Given the description of an element on the screen output the (x, y) to click on. 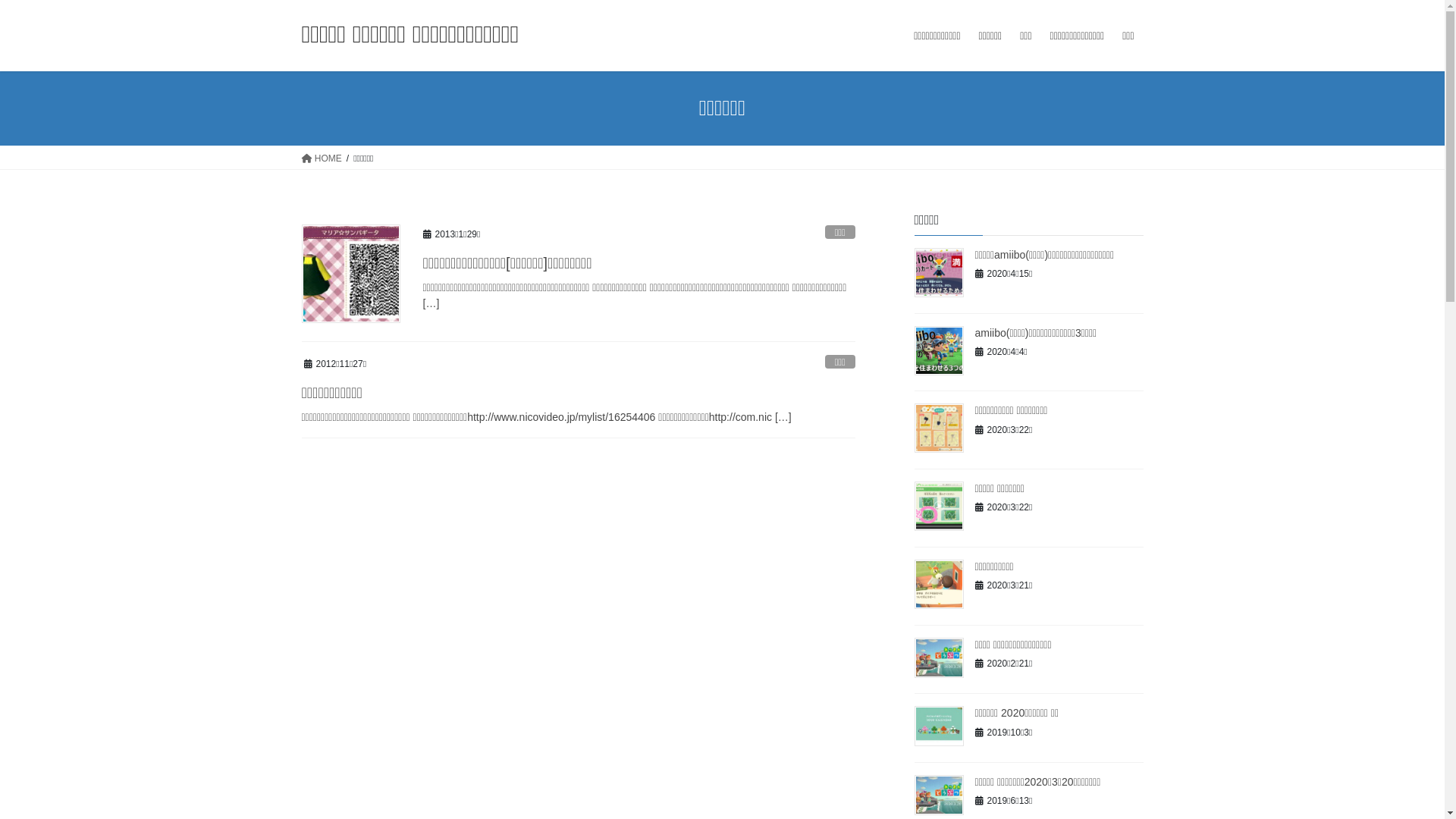
HOME Element type: text (321, 157)
